Given the description of an element on the screen output the (x, y) to click on. 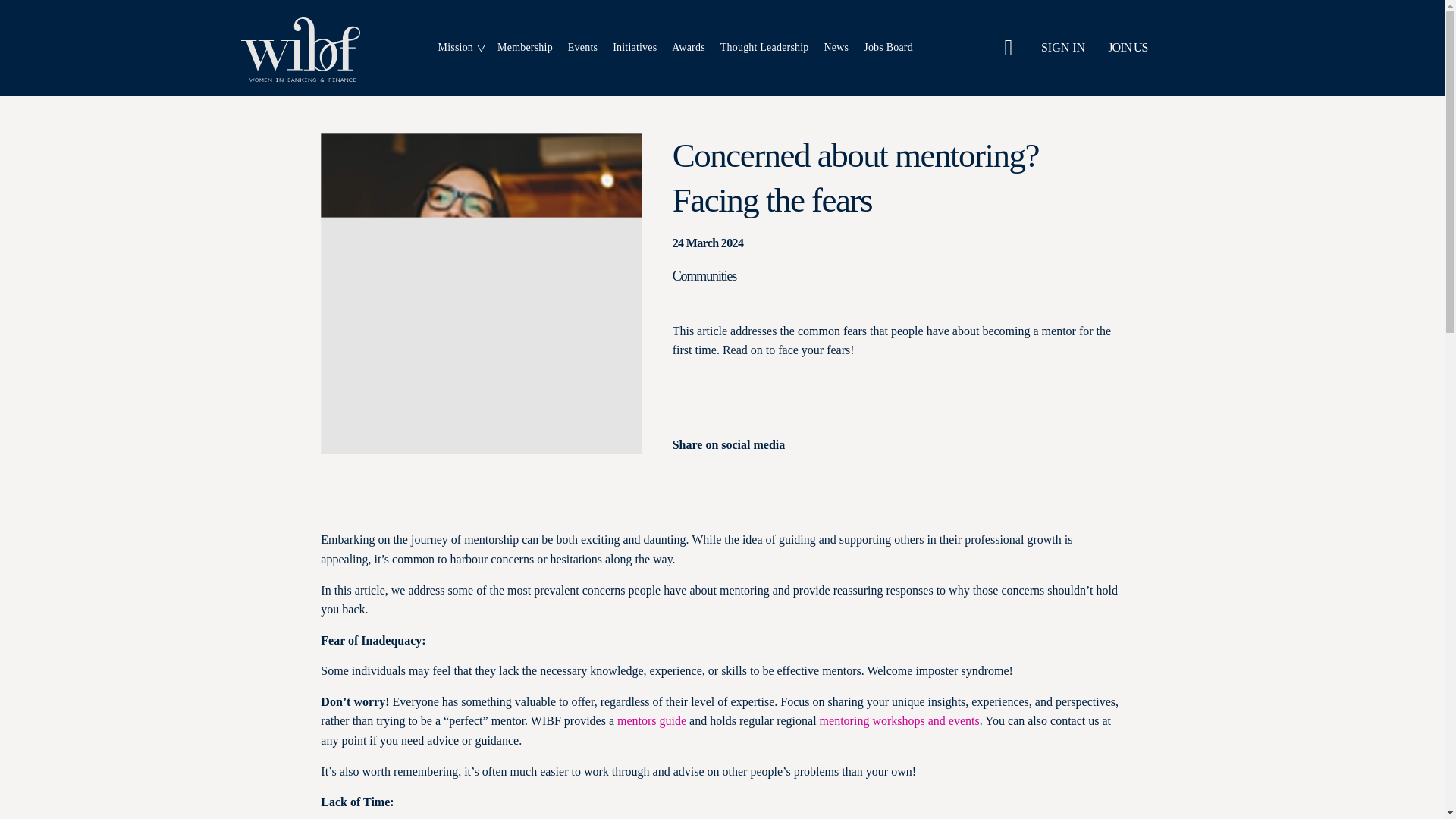
mentoring workshops and events (899, 720)
SIGN IN (1059, 47)
Membership (525, 47)
Search (1008, 47)
Thought Leadership (764, 47)
mentors guide (1148, 47)
